Given the description of an element on the screen output the (x, y) to click on. 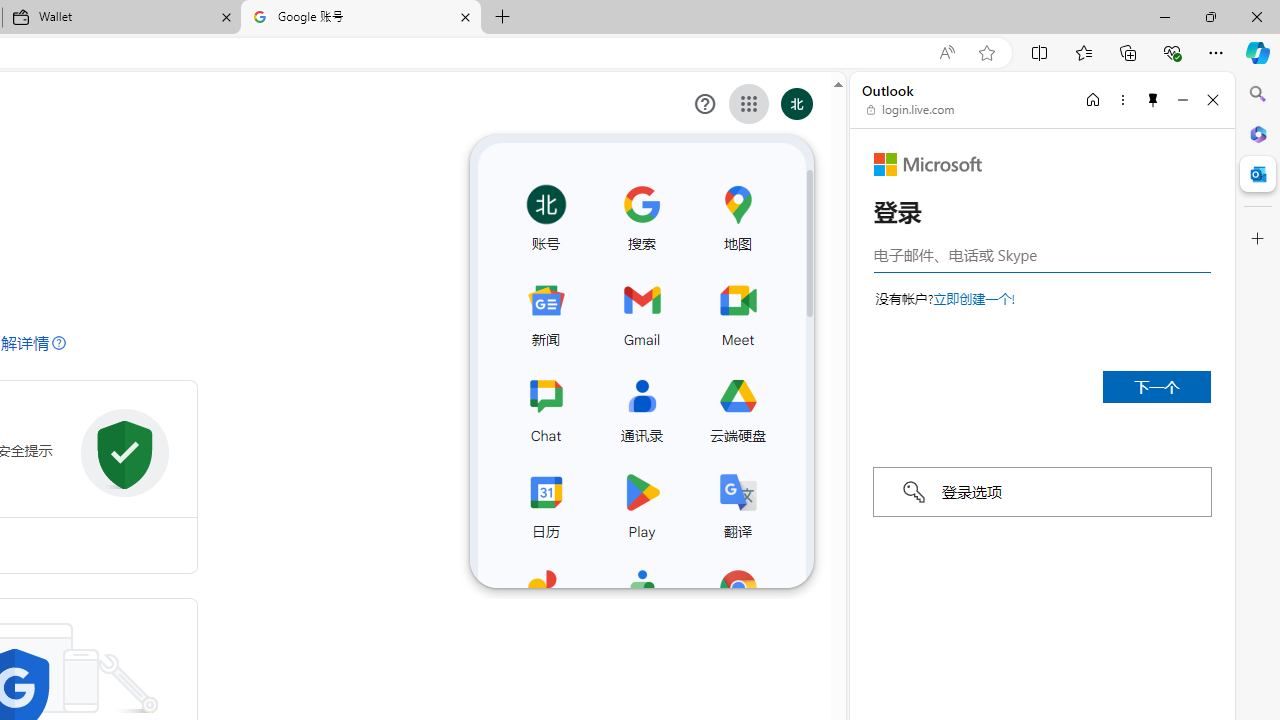
Chrome (737, 598)
Meet (737, 310)
